Given the description of an element on the screen output the (x, y) to click on. 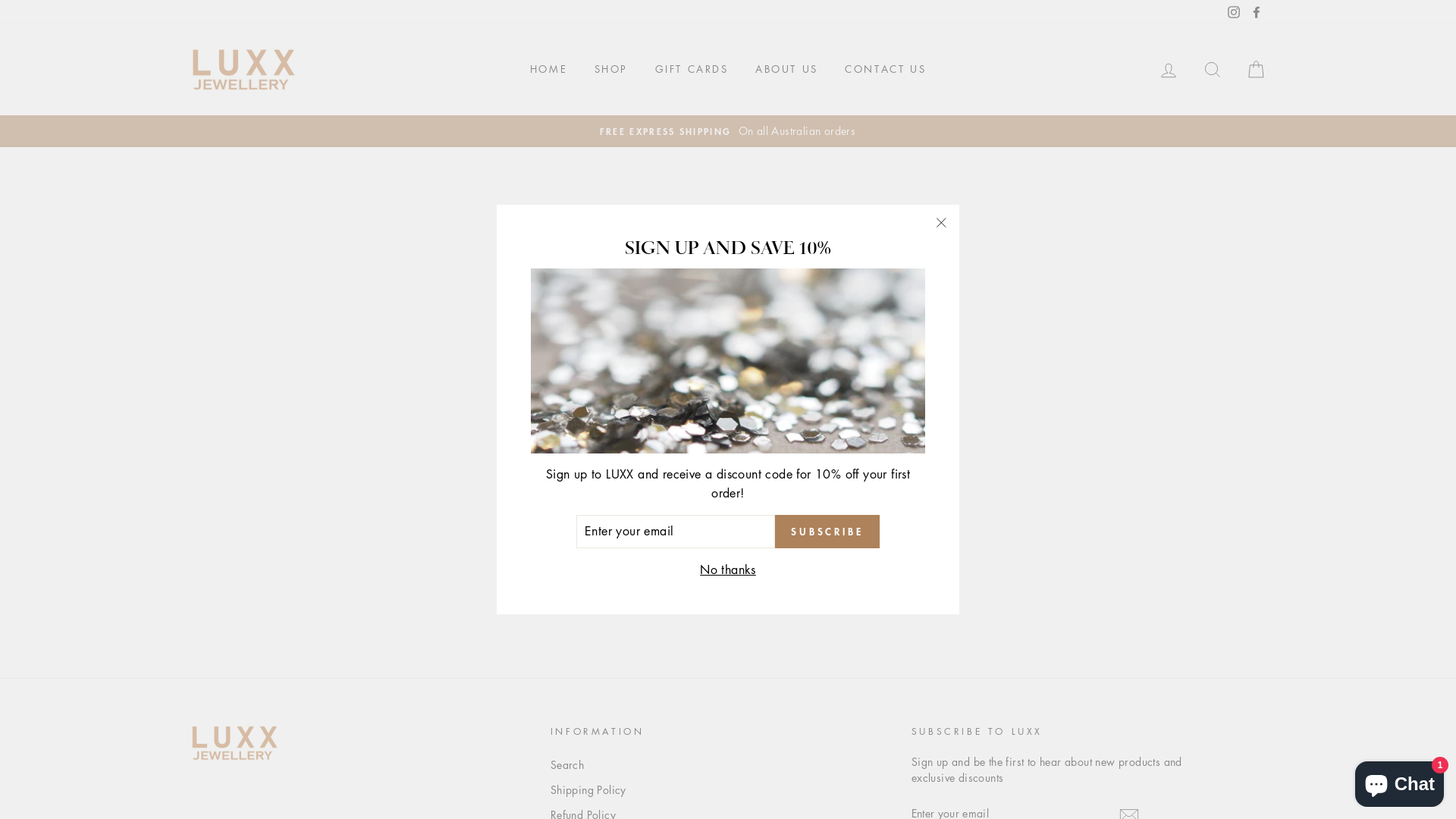
Continue shopping Element type: text (727, 334)
ABOUT US Element type: text (786, 69)
Shipping Policy Element type: text (588, 789)
Skip to content Element type: text (0, 0)
SHOP Element type: text (611, 69)
No thanks Element type: text (727, 569)
Shopify online store chat Element type: hover (1399, 780)
GIFT CARDS Element type: text (691, 69)
CONTACT US Element type: text (885, 69)
Instagram Element type: text (1233, 12)
CART Element type: text (1255, 69)
SEARCH Element type: text (1212, 69)
"Close (esc)" Element type: text (940, 222)
SUBSCRIBE Element type: text (827, 531)
Facebook Element type: text (1256, 12)
HOME Element type: text (548, 69)
Search Element type: text (566, 764)
LOG IN Element type: text (1168, 69)
